Given the description of an element on the screen output the (x, y) to click on. 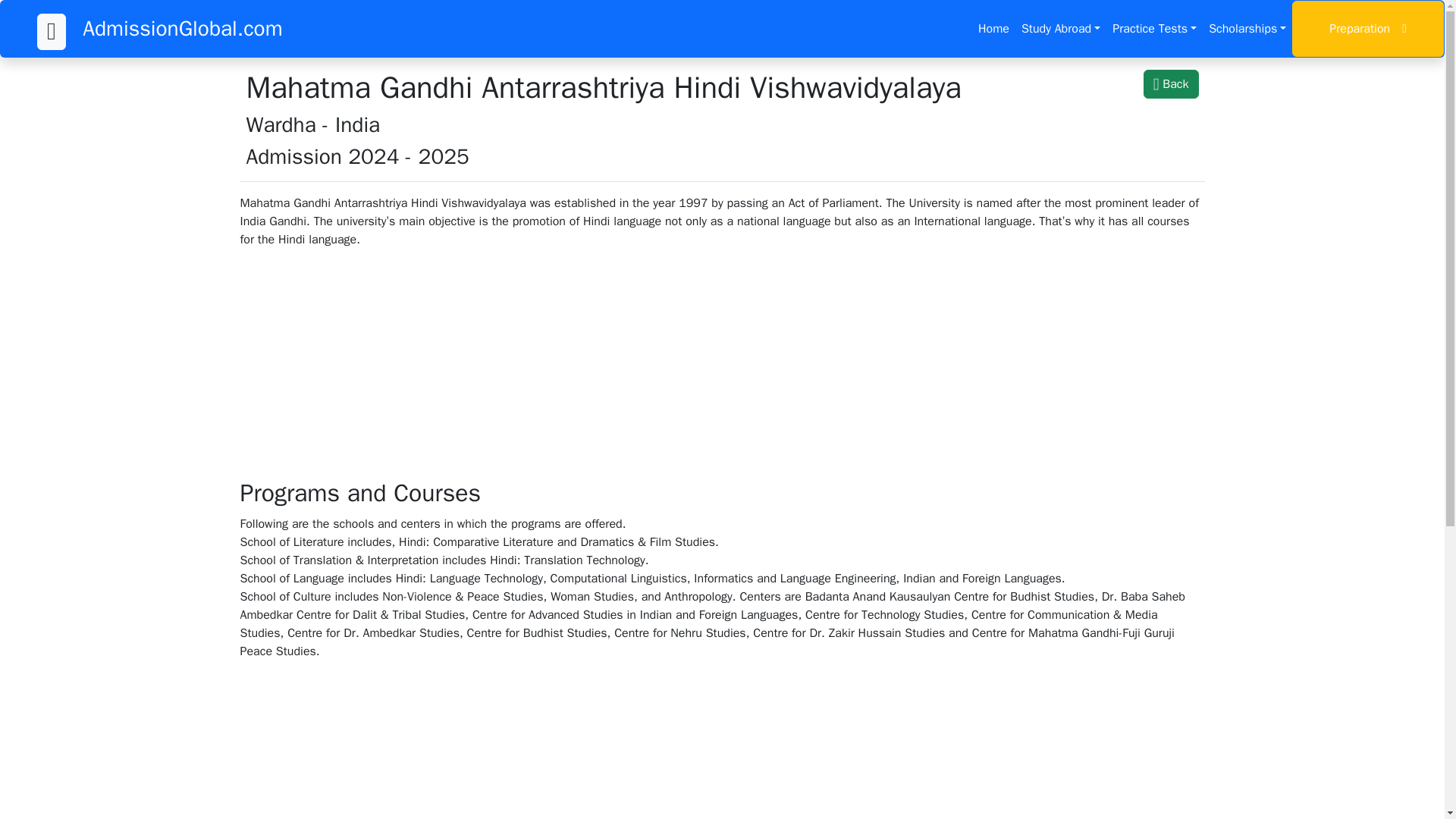
Study Abroad (1060, 28)
Advertisement (721, 745)
Back (1170, 83)
Home (993, 28)
Preparation (1368, 28)
Practice Tests (1154, 28)
AdmissionGlobal.com (182, 28)
Scholarships (1247, 28)
